Given the description of an element on the screen output the (x, y) to click on. 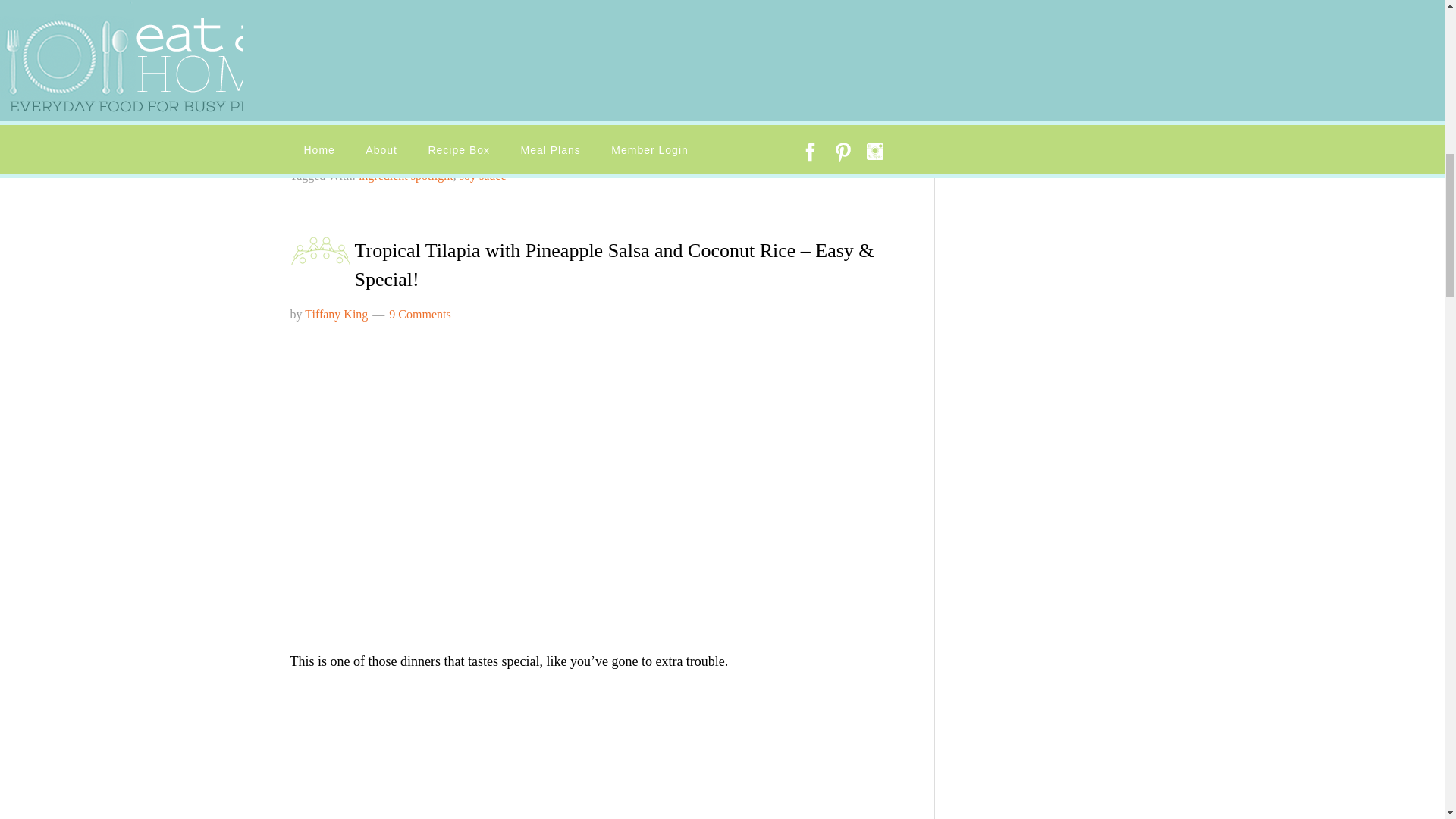
Tiffany King (336, 314)
ingredient spotlight (402, 155)
9 Comments (418, 314)
ingredient spotlight (405, 174)
soy sauce (483, 174)
tilapia with pineapple salsa and coconut rice done (497, 479)
